Given the description of an element on the screen output the (x, y) to click on. 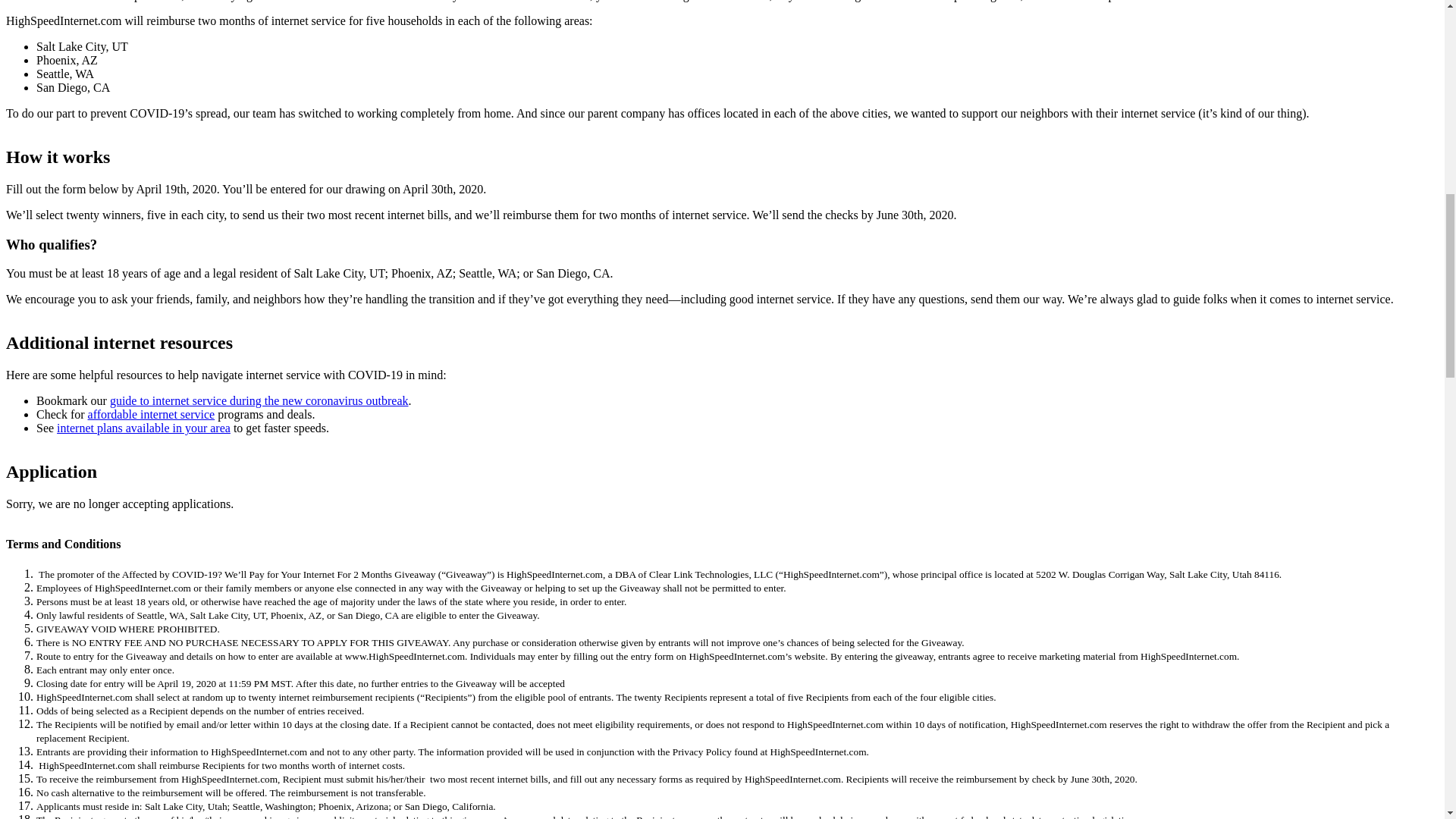
affordable internet service (151, 413)
internet plans available in your area (143, 427)
